Given the description of an element on the screen output the (x, y) to click on. 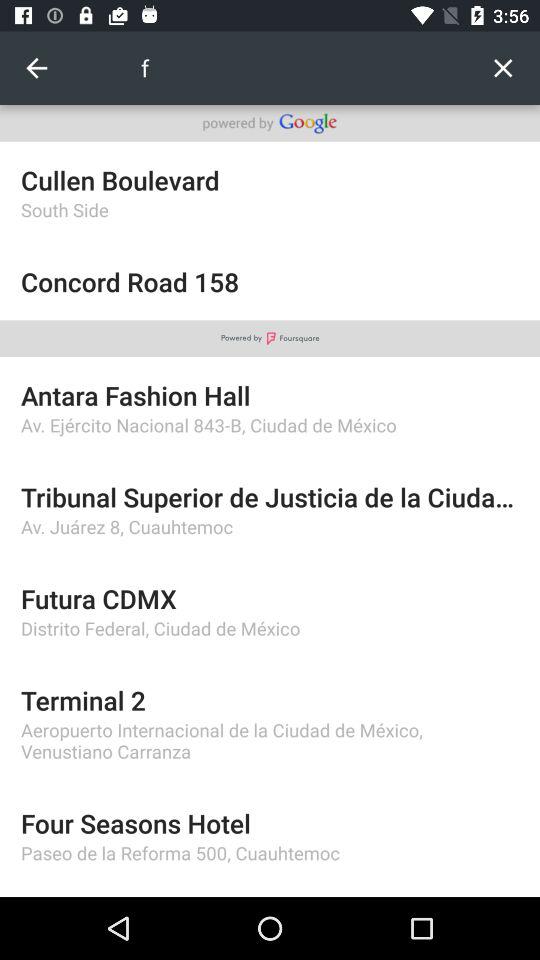
tap item next to the f icon (36, 68)
